Given the description of an element on the screen output the (x, y) to click on. 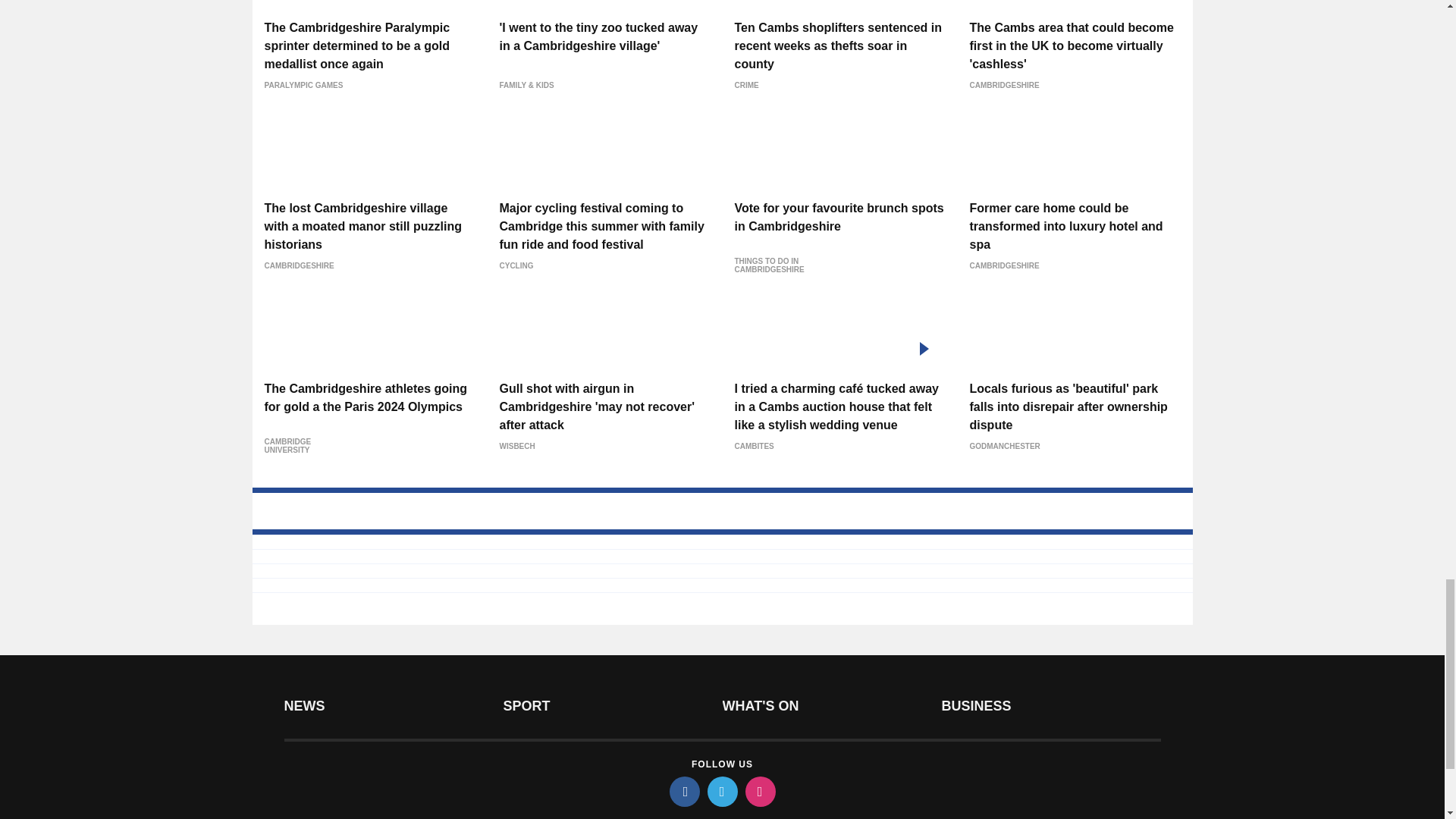
twitter (721, 791)
instagram (759, 791)
facebook (683, 791)
